Given the description of an element on the screen output the (x, y) to click on. 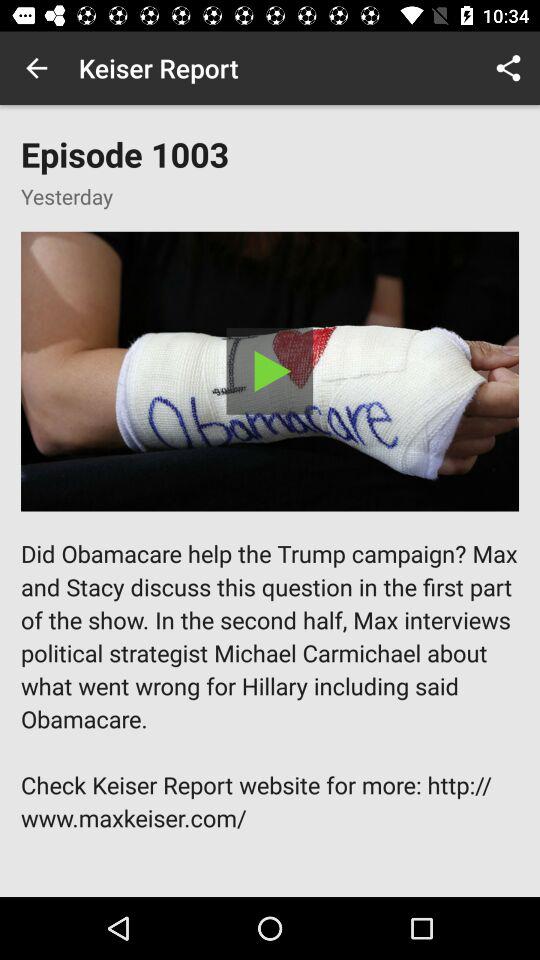
turn on the item next to the keiser report app (36, 68)
